Given the description of an element on the screen output the (x, y) to click on. 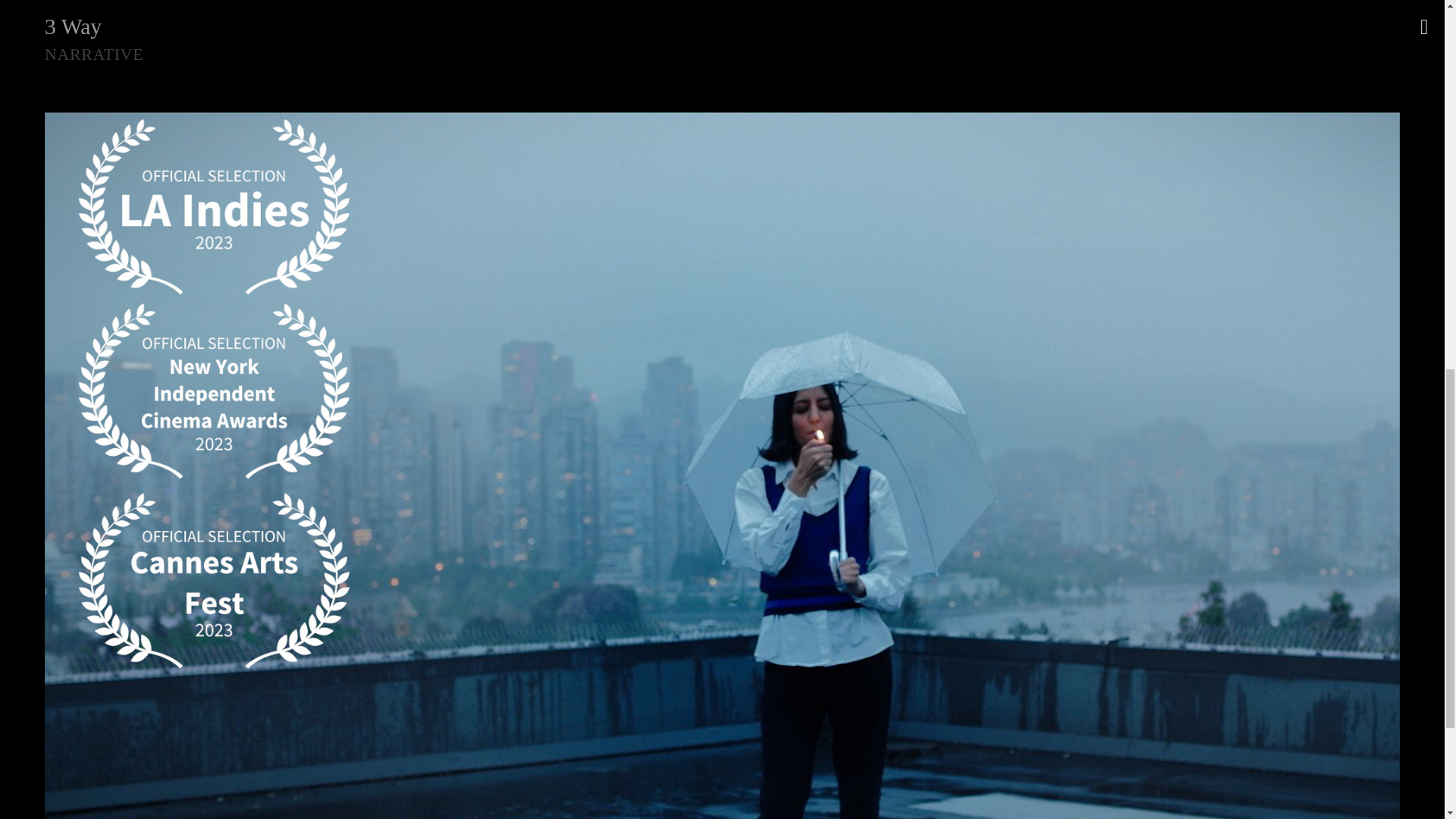
NARRATIVE (93, 54)
3 Way (722, 20)
